Given the description of an element on the screen output the (x, y) to click on. 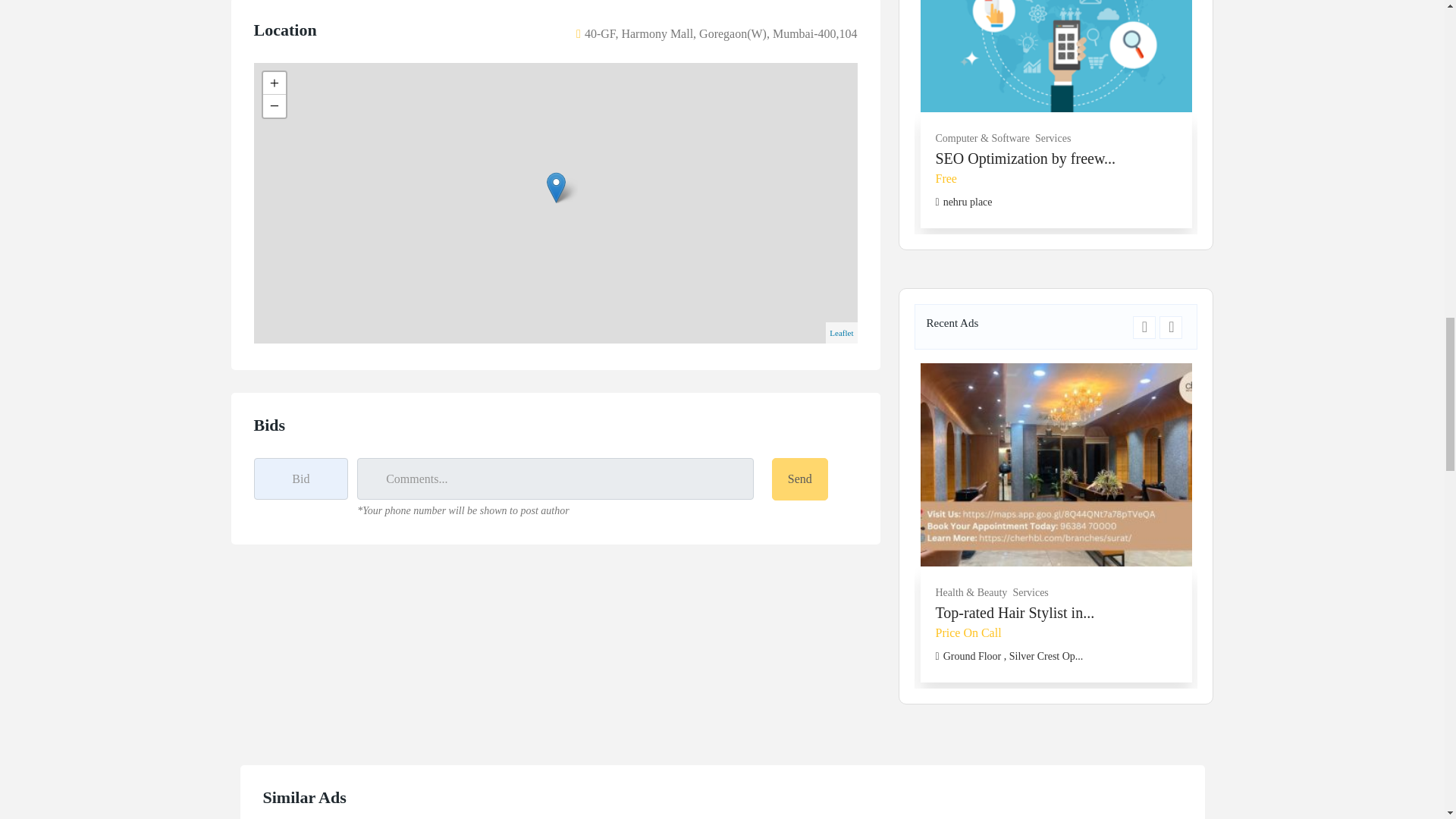
A JS library for interactive maps (841, 332)
Zoom out (273, 106)
Zoom in (273, 83)
